Given the description of an element on the screen output the (x, y) to click on. 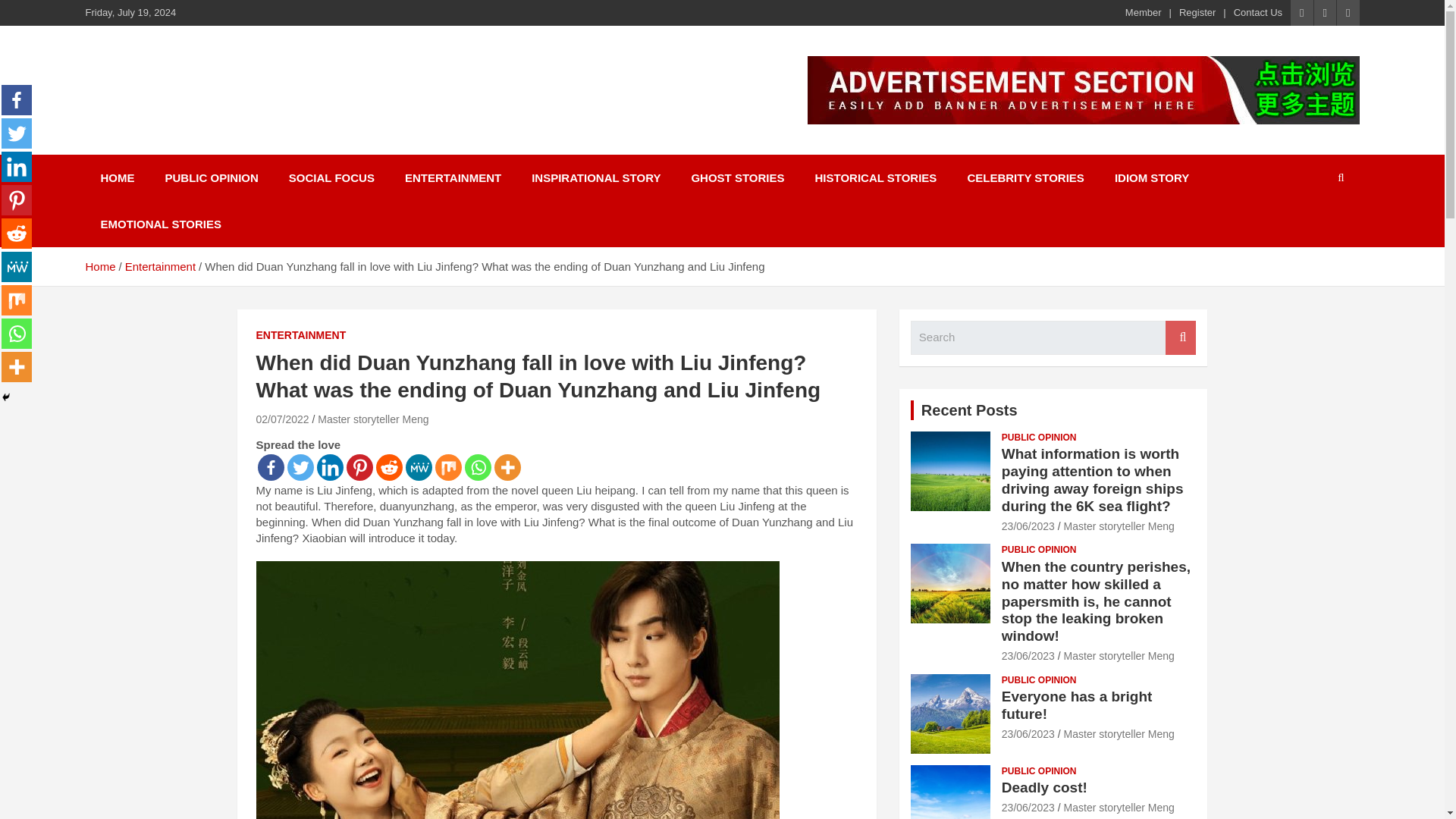
HISTORICAL STORIES (875, 177)
Twitter (299, 467)
ENTERTAINMENT (453, 177)
SOCIAL FOCUS (331, 177)
ENTERTAINMENT (301, 335)
INSPIRATIONAL STORY (595, 177)
More (508, 467)
CELEBRITY STORIES (1025, 177)
Linkedin (16, 166)
Contact Us (1257, 12)
MeWe (16, 266)
IDIOM STORY (1151, 177)
EMOTIONAL STORIES (159, 223)
Chinese Stories (199, 82)
